Given the description of an element on the screen output the (x, y) to click on. 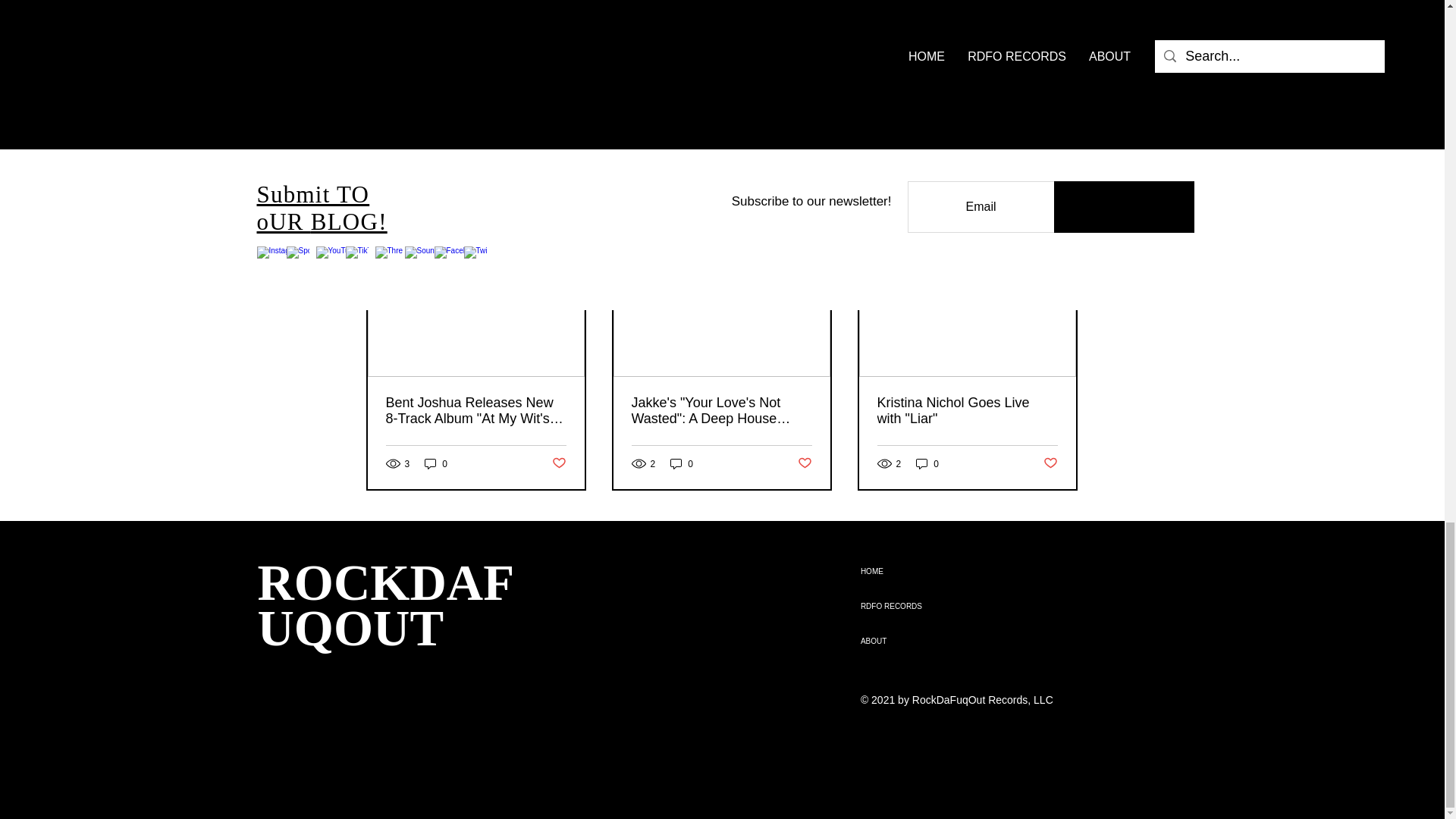
Post not marked as liked (995, 143)
See All (1061, 227)
